Given the description of an element on the screen output the (x, y) to click on. 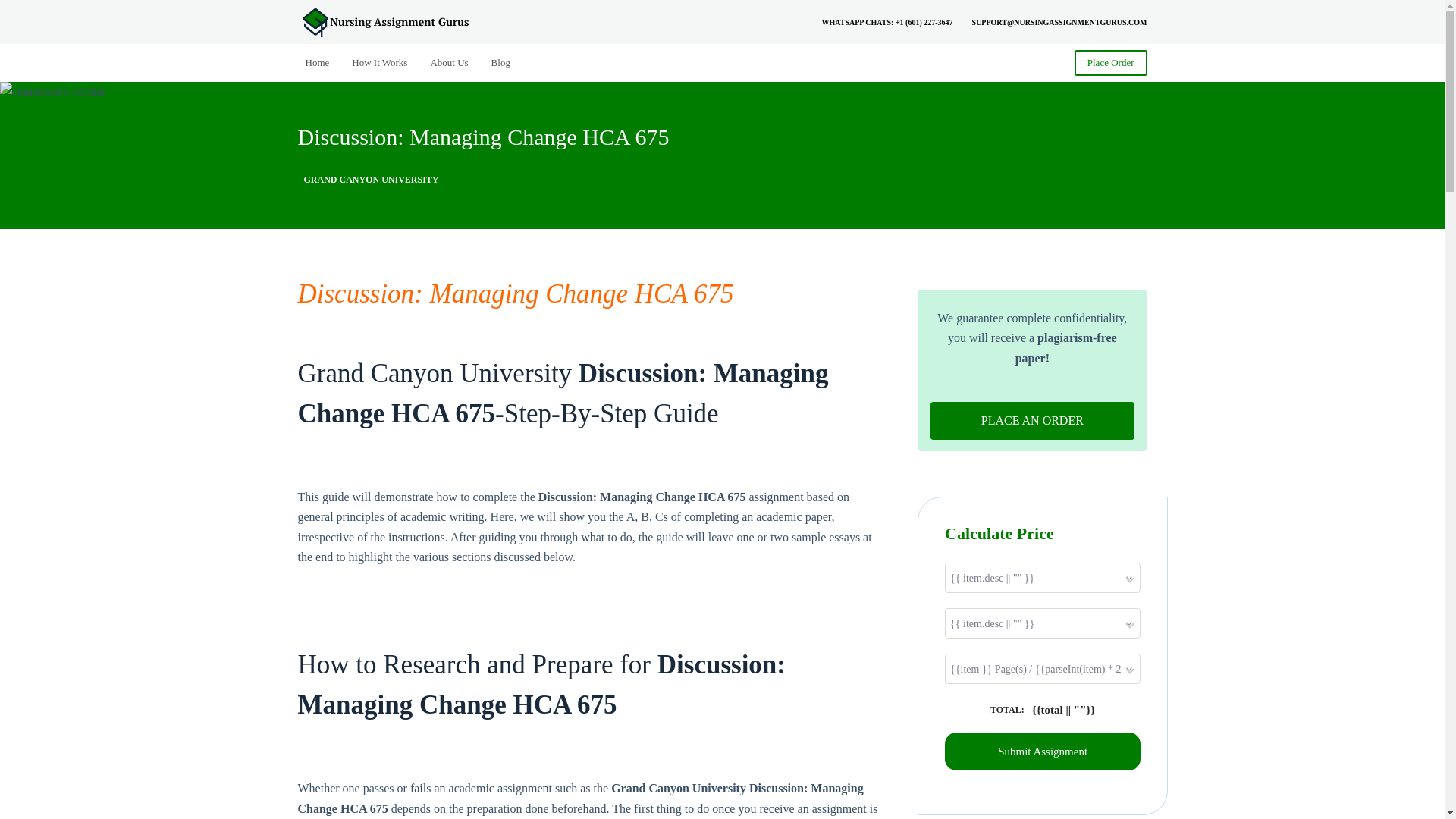
How It Works (379, 62)
Place Order (1110, 62)
About Us (449, 62)
Submit Assignment (1042, 751)
Discussion: Managing Change HCA 675 (515, 293)
Blog (500, 62)
Skip to content (15, 7)
PLACE AN ORDER (1032, 420)
Home (322, 62)
Discussion: Managing Change HCA 675 (722, 136)
